Given the description of an element on the screen output the (x, y) to click on. 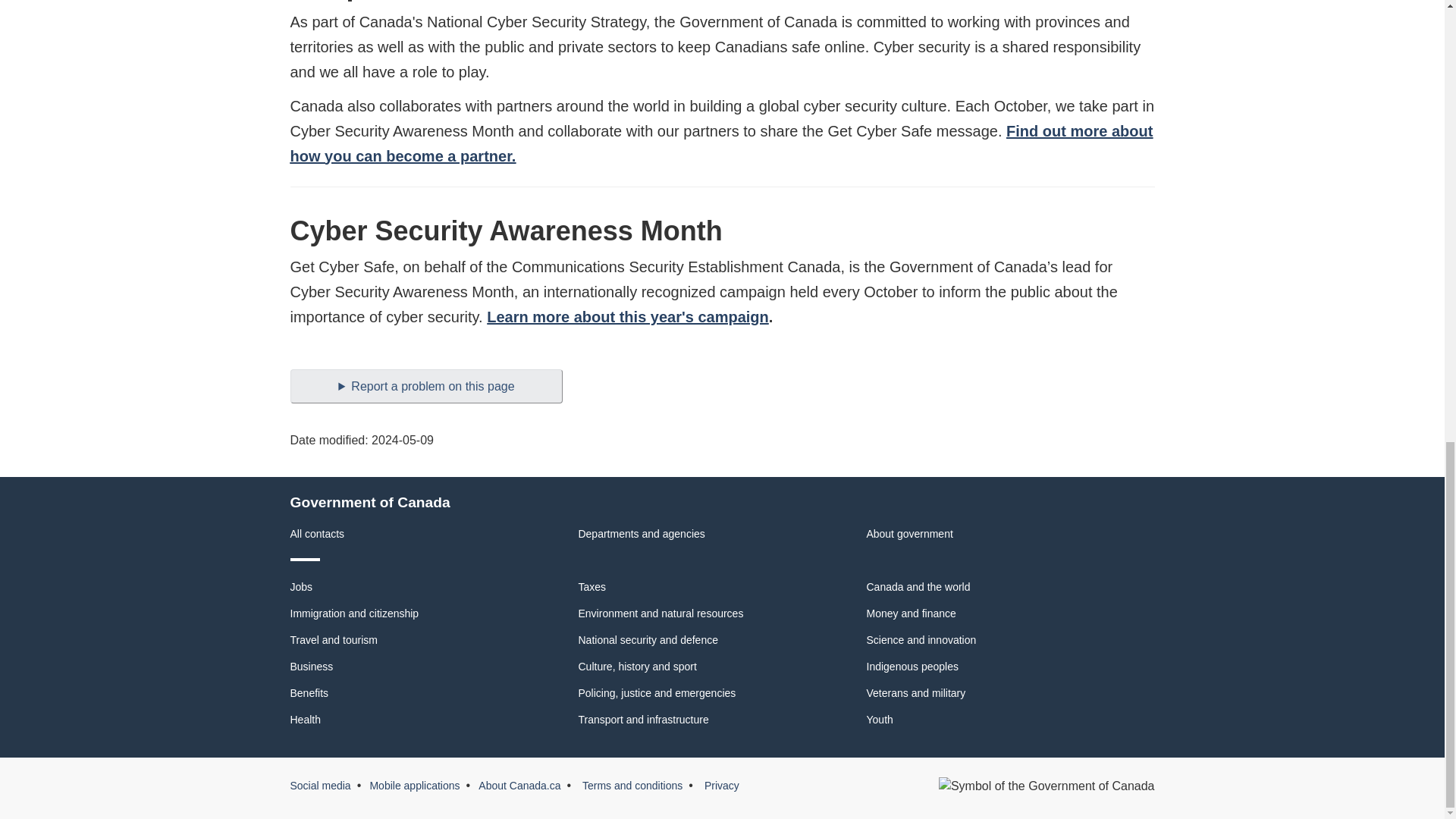
Departments and agencies (641, 533)
All contacts (316, 533)
Learn more about this year's campaign (627, 316)
Find out more about how you can become a partner. (721, 143)
